Given the description of an element on the screen output the (x, y) to click on. 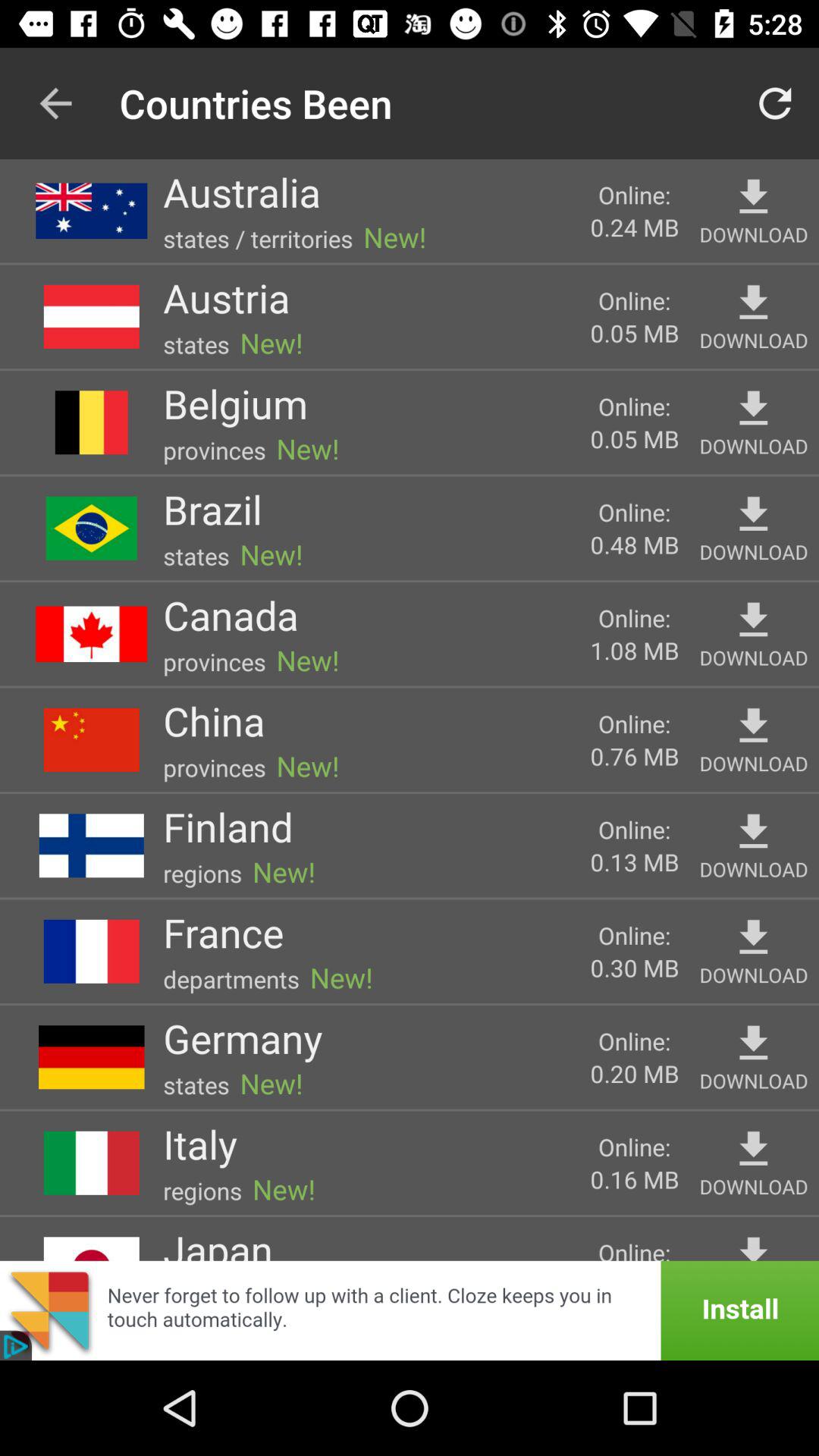
go to favorite (753, 303)
